Given the description of an element on the screen output the (x, y) to click on. 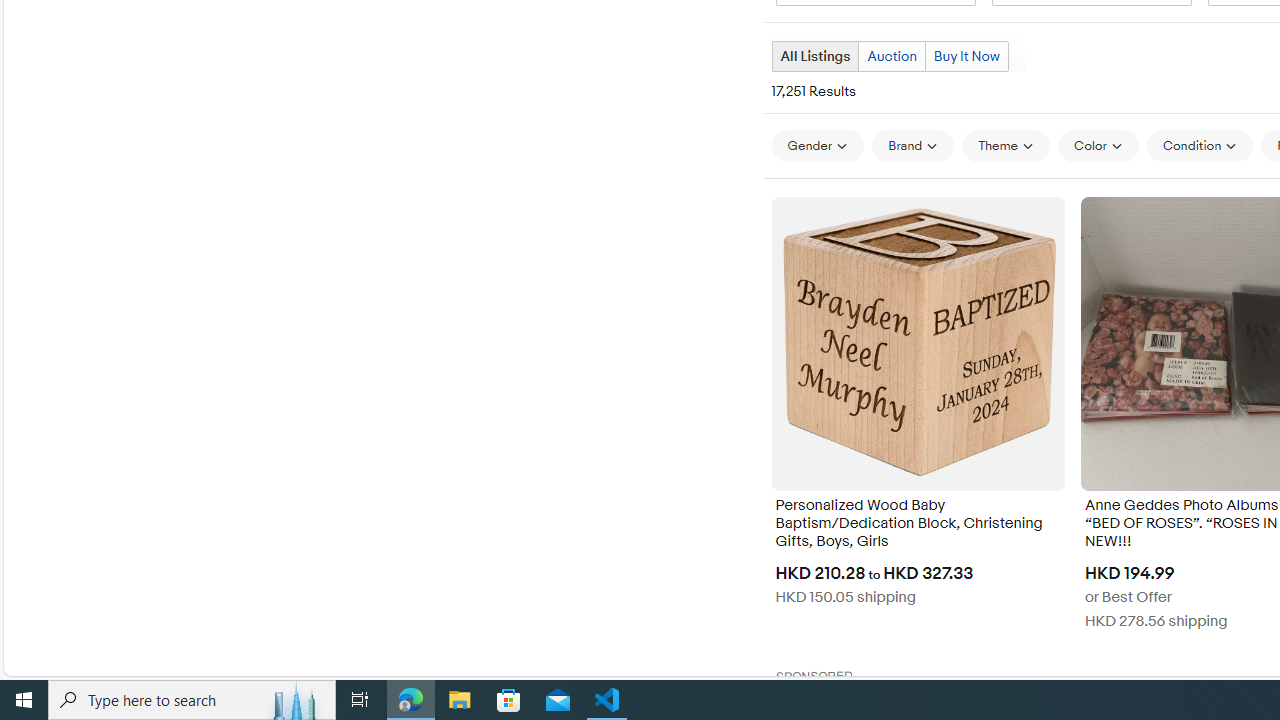
Condition (1199, 145)
Condition (1199, 146)
All Listings (814, 56)
All Listings Current view (814, 56)
Theme (1006, 145)
Color (1098, 146)
Theme (1006, 146)
Gender (817, 145)
Gender (817, 146)
Buy It Now (966, 56)
Color (1098, 145)
Auction (891, 56)
Brand (912, 145)
